Given the description of an element on the screen output the (x, y) to click on. 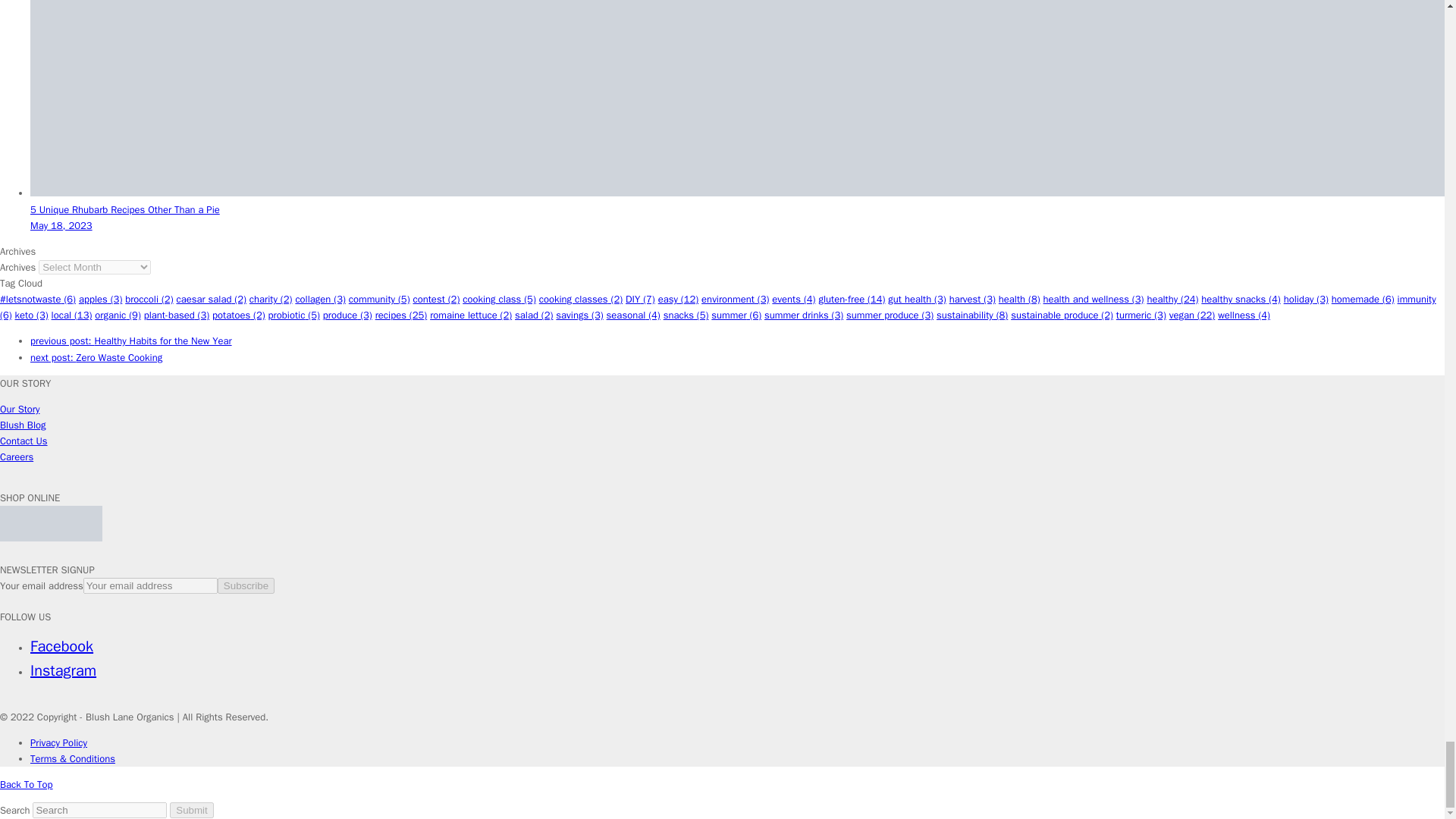
Facebook (61, 646)
Instagram (63, 670)
